Given the description of an element on the screen output the (x, y) to click on. 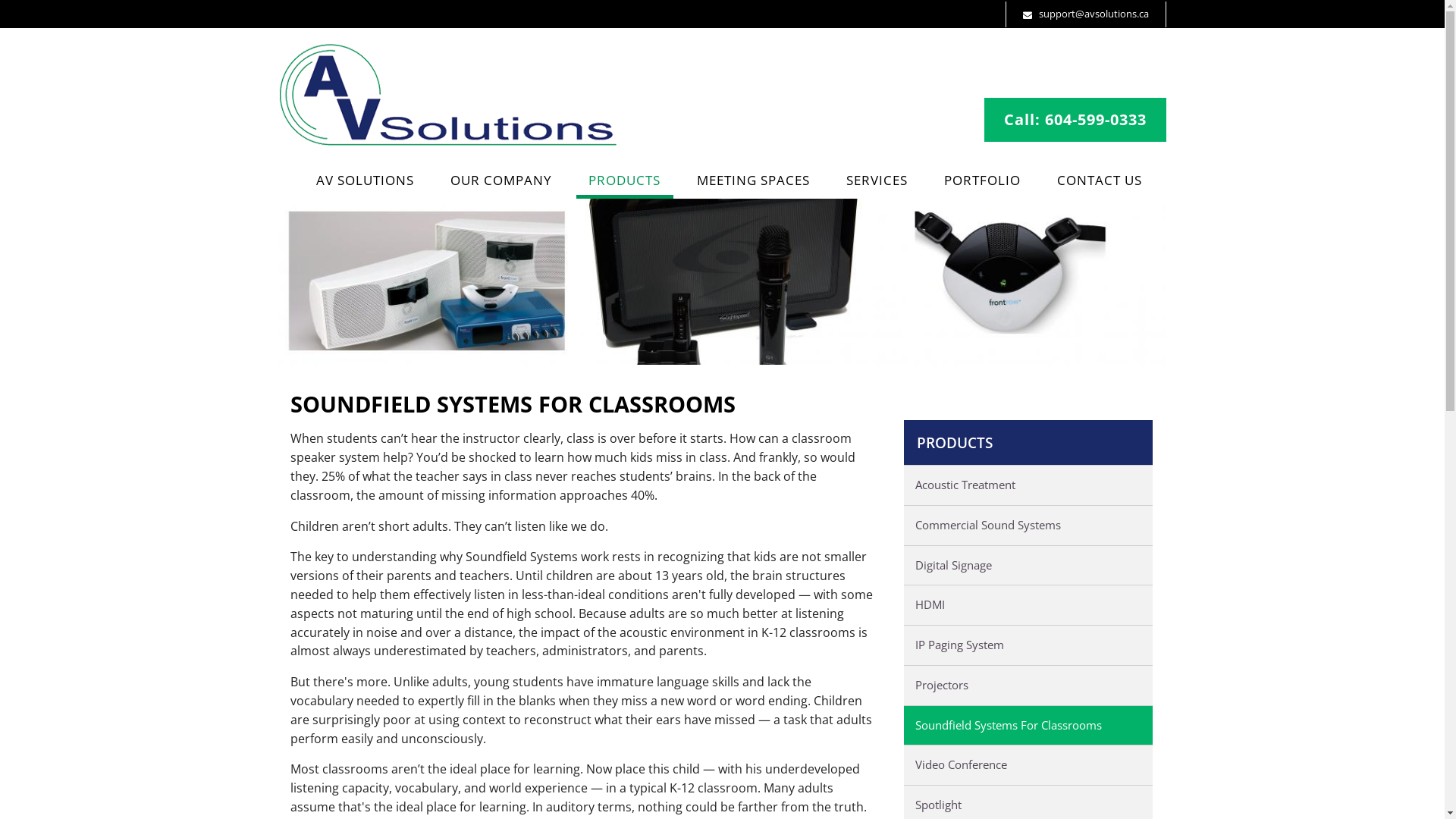
AV SOLUTIONS Element type: text (364, 182)
CONTACT US Element type: text (1099, 182)
PORTFOLIO Element type: text (981, 182)
Commercial Sound Systems Element type: text (1027, 525)
support@avsolutionsac. Element type: text (1085, 14)
Soundfield Systems For Classrooms Element type: text (1027, 725)
PRODUCTS Element type: text (624, 182)
MEETING SPACES Element type: text (753, 182)
Acoustic Treatment Element type: text (1027, 485)
Projectors Element type: text (1027, 685)
HDMI Element type: text (1027, 604)
OUR COMPANY Element type: text (501, 182)
AV Solutions - Home Element type: hover (448, 141)
SERVICES Element type: text (877, 182)
Video Conference Element type: text (1027, 764)
Digital Signage Element type: text (1027, 565)
IP Paging System Element type: text (1027, 645)
PRODUCTS Element type: text (1027, 442)
